Given the description of an element on the screen output the (x, y) to click on. 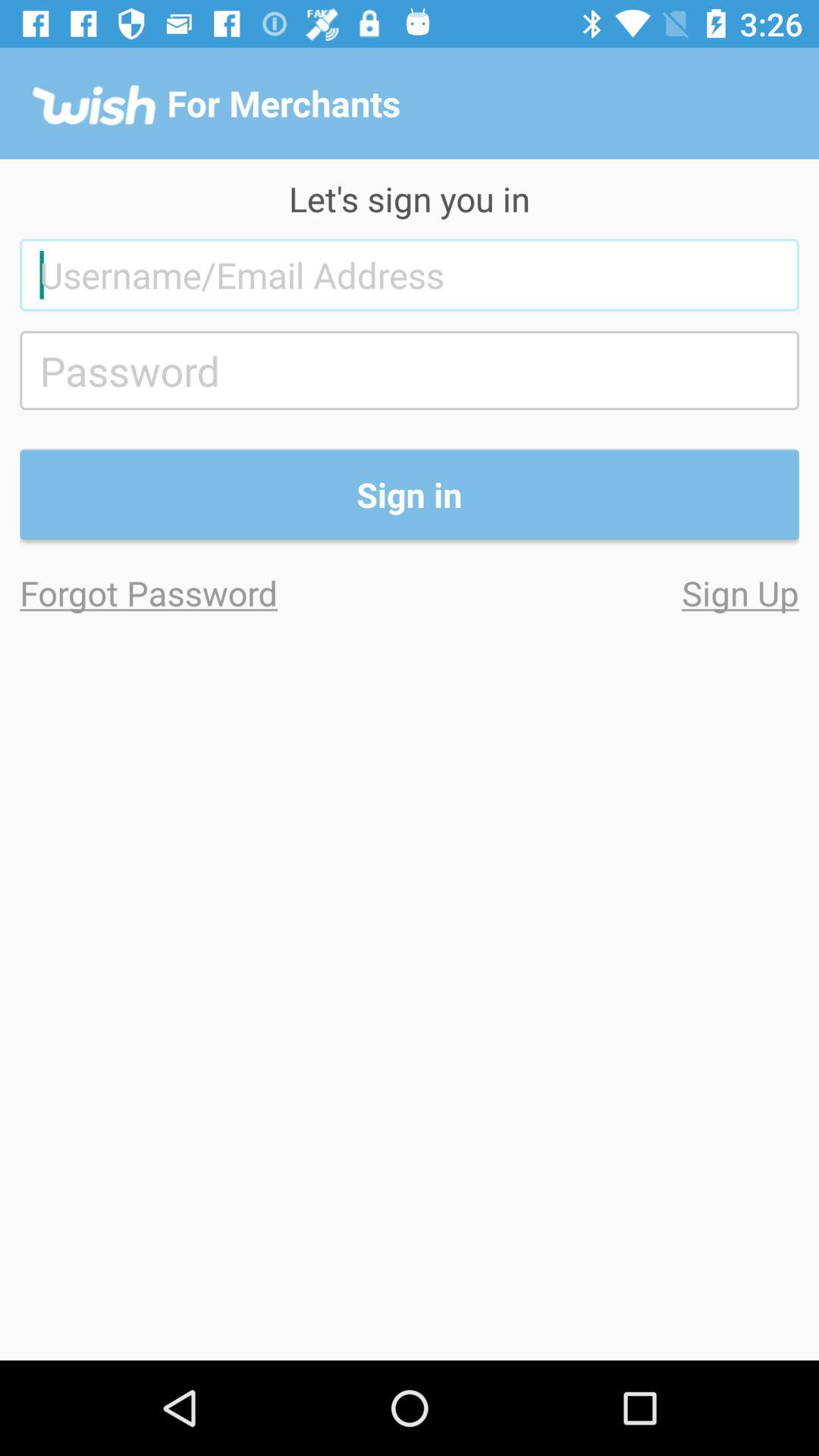
tap icon to the right of forgot password (604, 592)
